Given the description of an element on the screen output the (x, y) to click on. 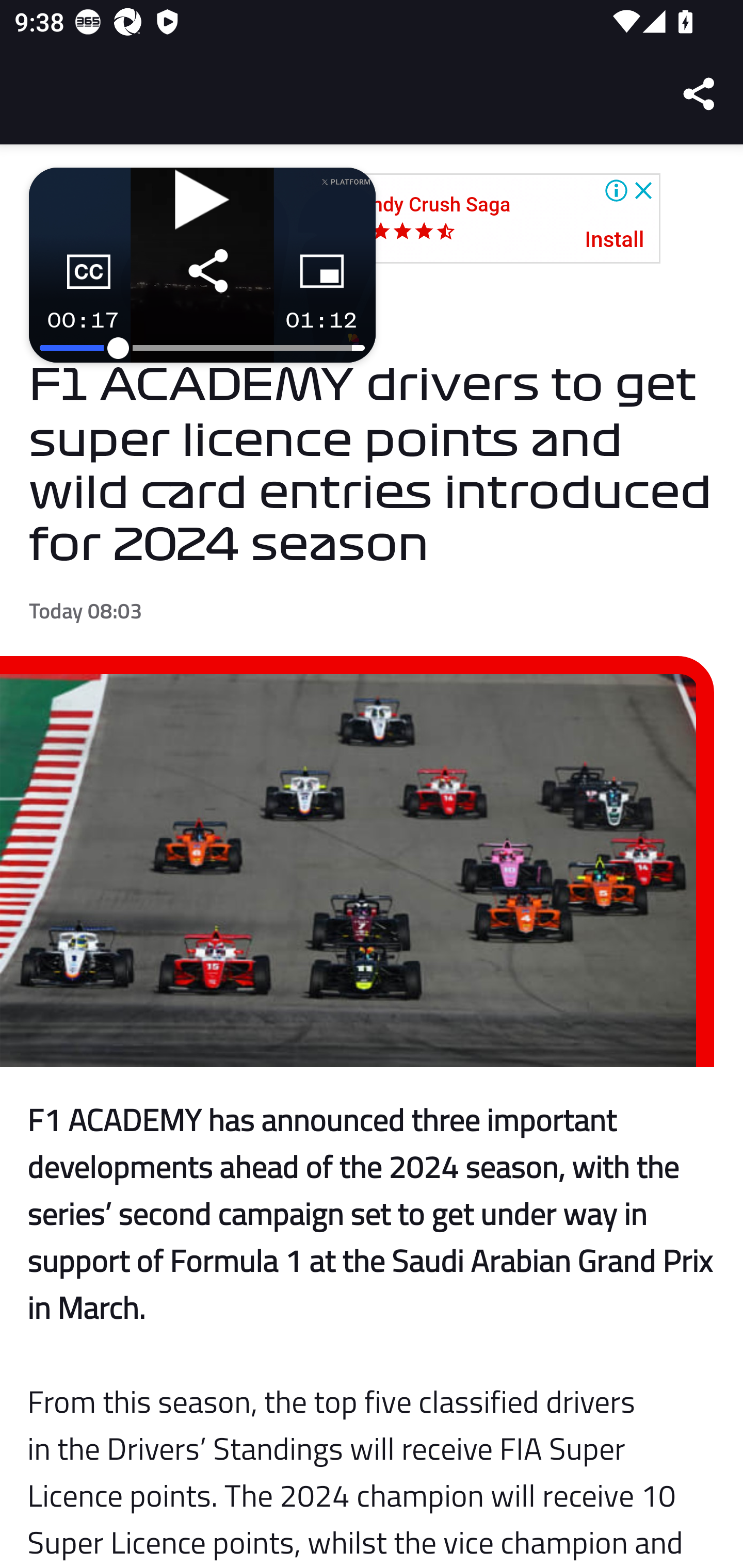
Share (699, 93)
Install (614, 240)
